Given the description of an element on the screen output the (x, y) to click on. 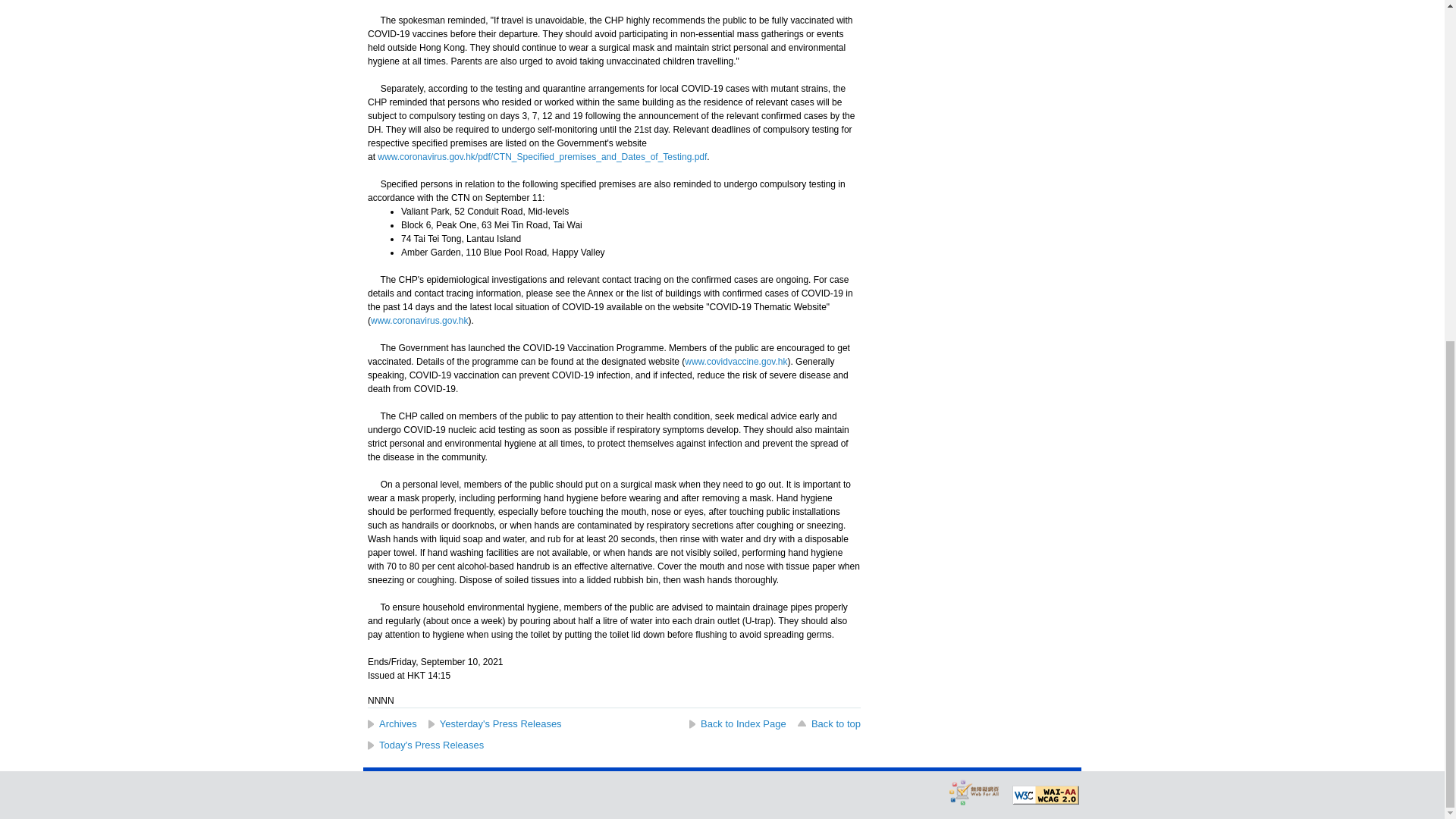
Web Accessibility Recognition Scheme (974, 791)
Back to Index Page (737, 723)
Back to top (828, 723)
www.covidvaccine.gov.hk (735, 361)
Archives (392, 723)
Yesterday's Press Releases (495, 723)
www.coronavirus.gov.hk (419, 320)
Today's Press Releases (425, 745)
